Given the description of an element on the screen output the (x, y) to click on. 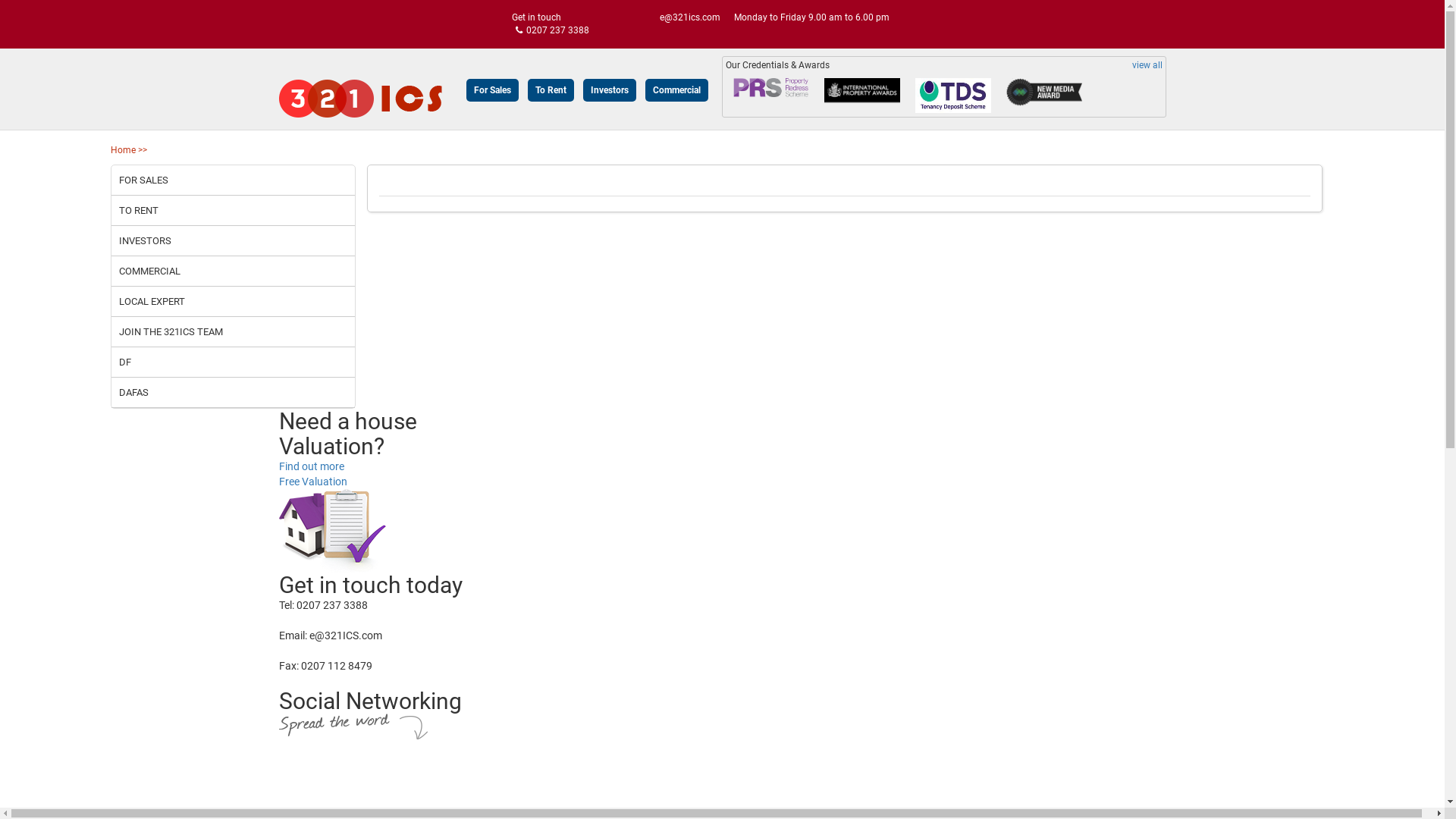
To Rent Element type: text (550, 89)
LOCAL EXPERT Element type: text (232, 301)
JOIN THE 321ICS TEAM Element type: text (232, 331)
DF Element type: text (232, 361)
DAFAS Element type: text (232, 392)
COMMERCIAL Element type: text (232, 270)
INVESTORS Element type: text (232, 240)
TO RENT Element type: text (232, 210)
FOR SALES Element type: text (232, 179)
Find out more Element type: text (311, 466)
Free Valuation Element type: text (313, 481)
Investors Element type: text (608, 89)
view all Element type: text (1146, 65)
For Sales Element type: text (491, 89)
Commercial Element type: text (675, 89)
